Given the description of an element on the screen output the (x, y) to click on. 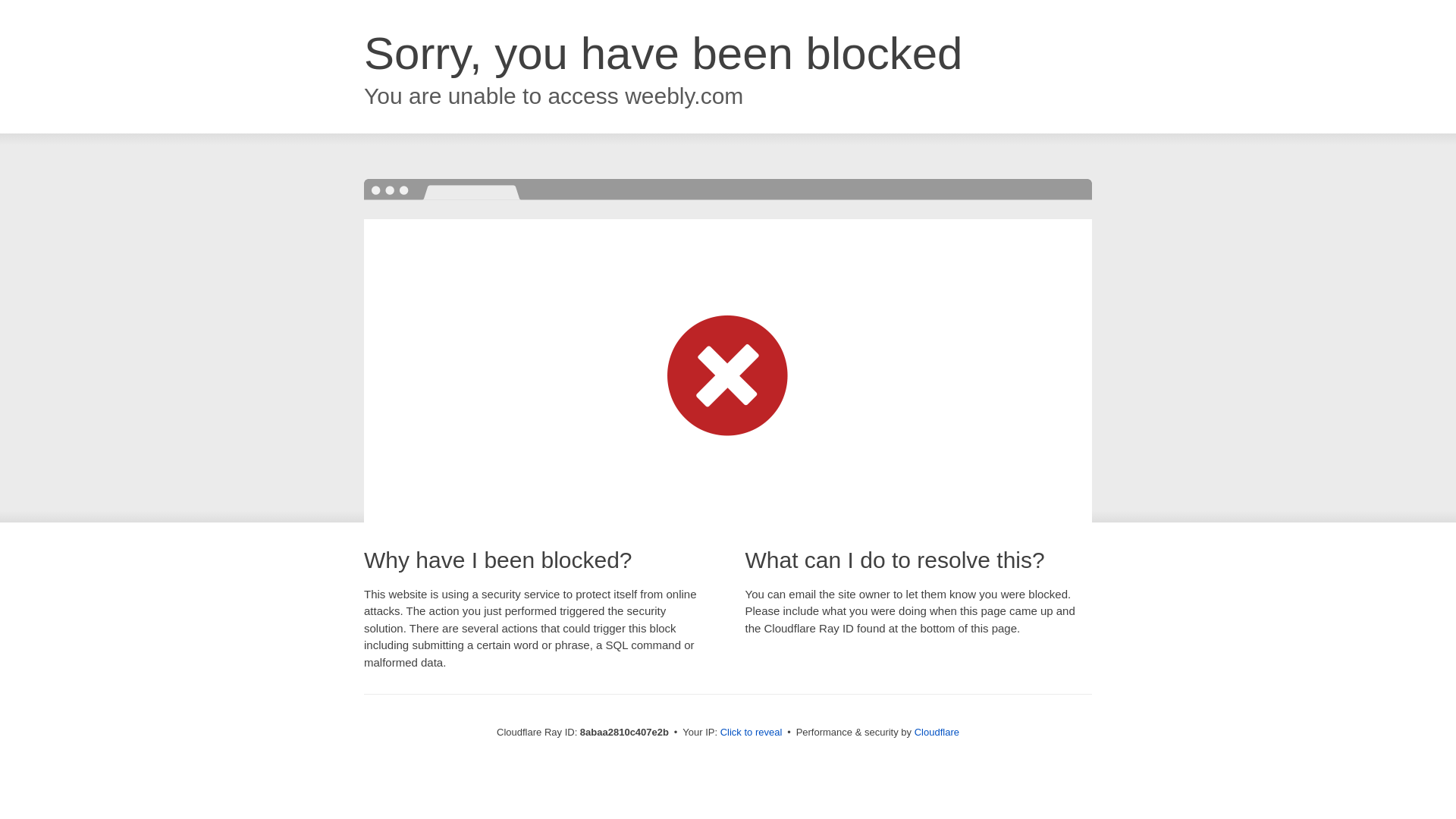
Click to reveal (751, 732)
Cloudflare (936, 731)
